Given the description of an element on the screen output the (x, y) to click on. 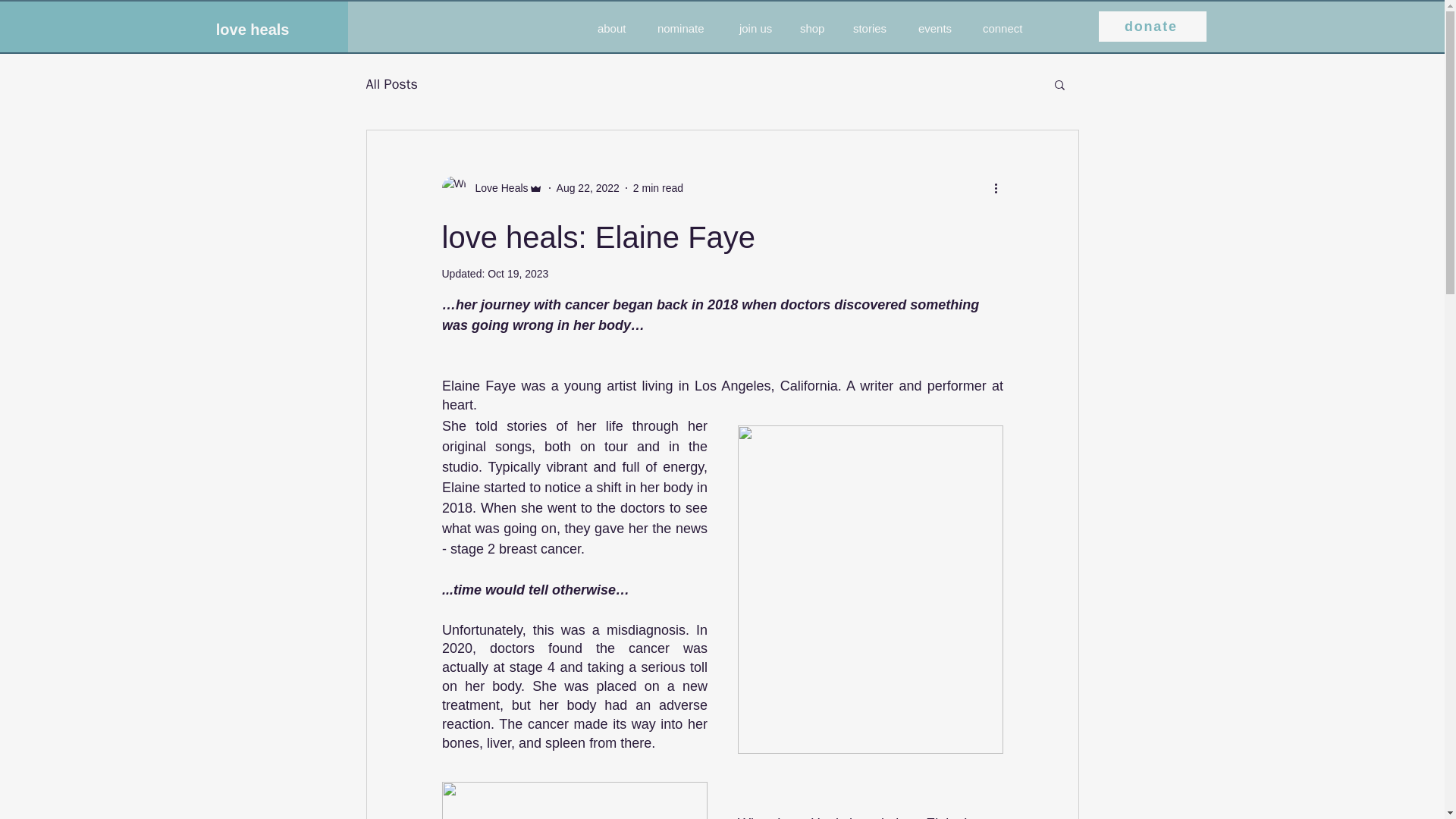
about (616, 28)
Love Heals (496, 188)
connect (1008, 28)
Aug 22, 2022 (588, 187)
join us (758, 28)
Love Heals (491, 187)
All Posts (390, 84)
nominate (687, 28)
Oct 19, 2023 (517, 273)
love heals (285, 29)
donate (1153, 26)
stories (874, 28)
events (939, 28)
2 min read (657, 187)
shop (815, 28)
